Given the description of an element on the screen output the (x, y) to click on. 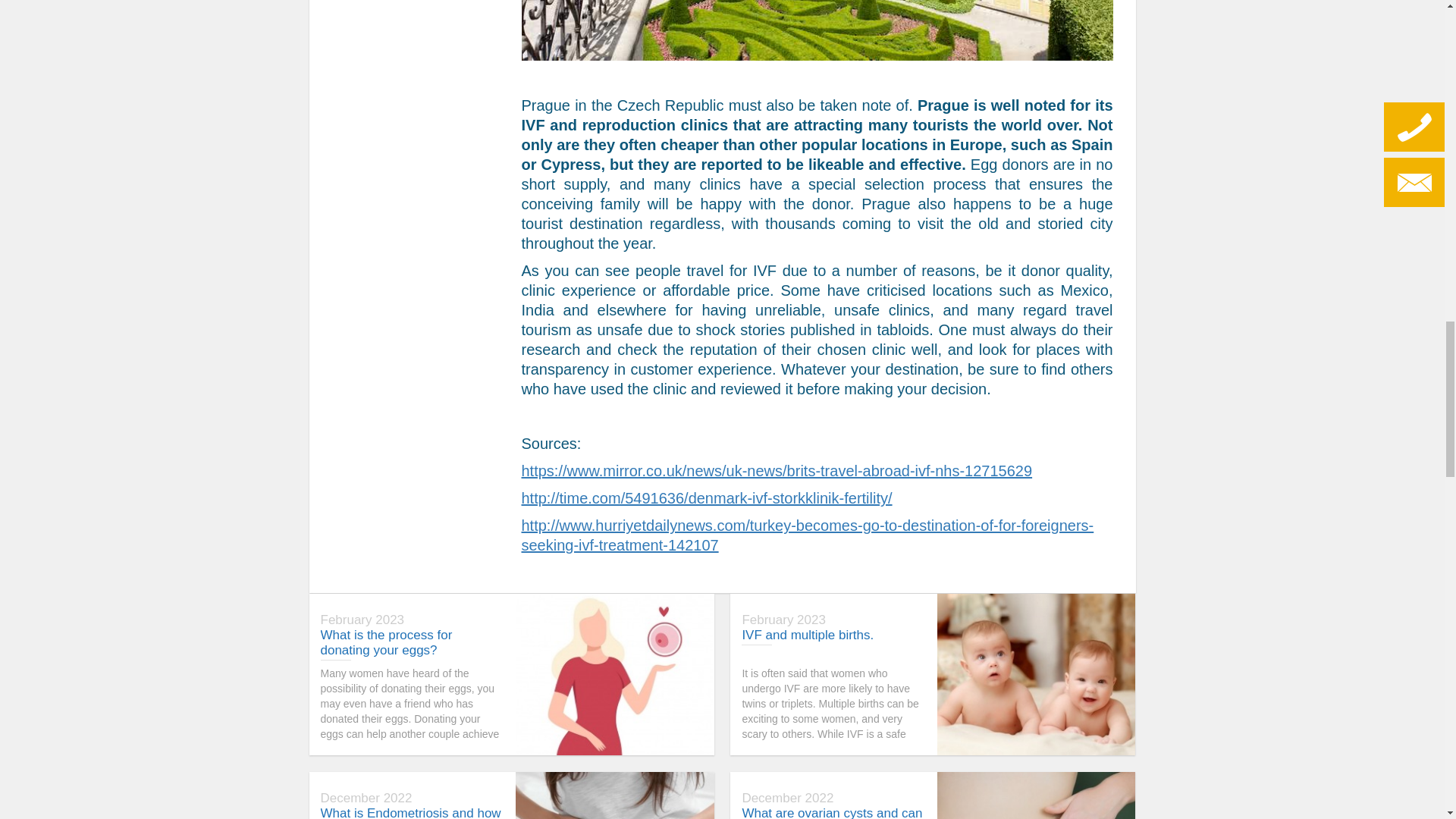
ovarian cysts (1036, 795)
multiple births (1036, 674)
What is Endometriosis (614, 795)
donating your eggs (614, 674)
